Given the description of an element on the screen output the (x, y) to click on. 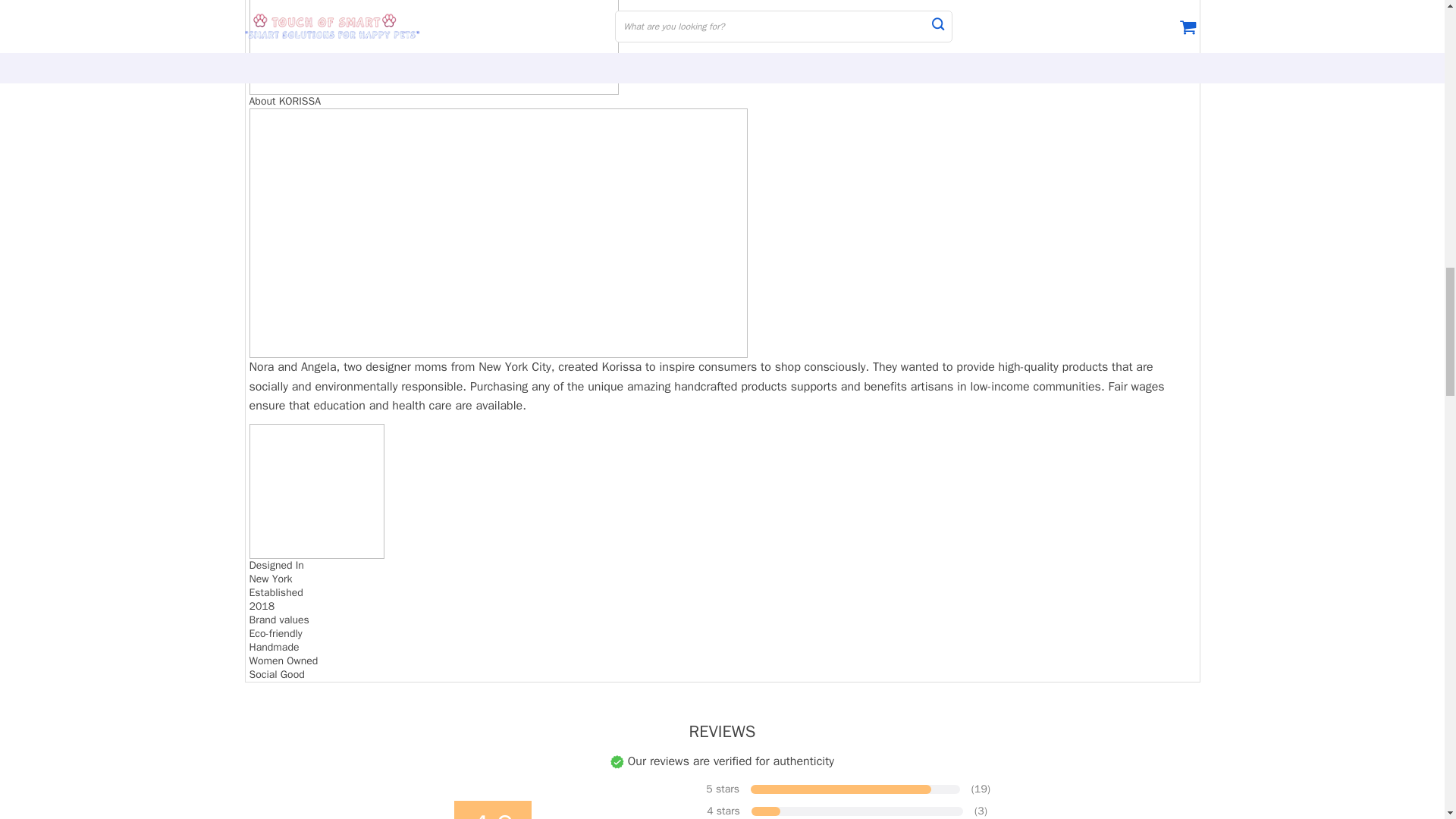
2-min (497, 232)
1 (316, 491)
Mask Group (432, 47)
